Given the description of an element on the screen output the (x, y) to click on. 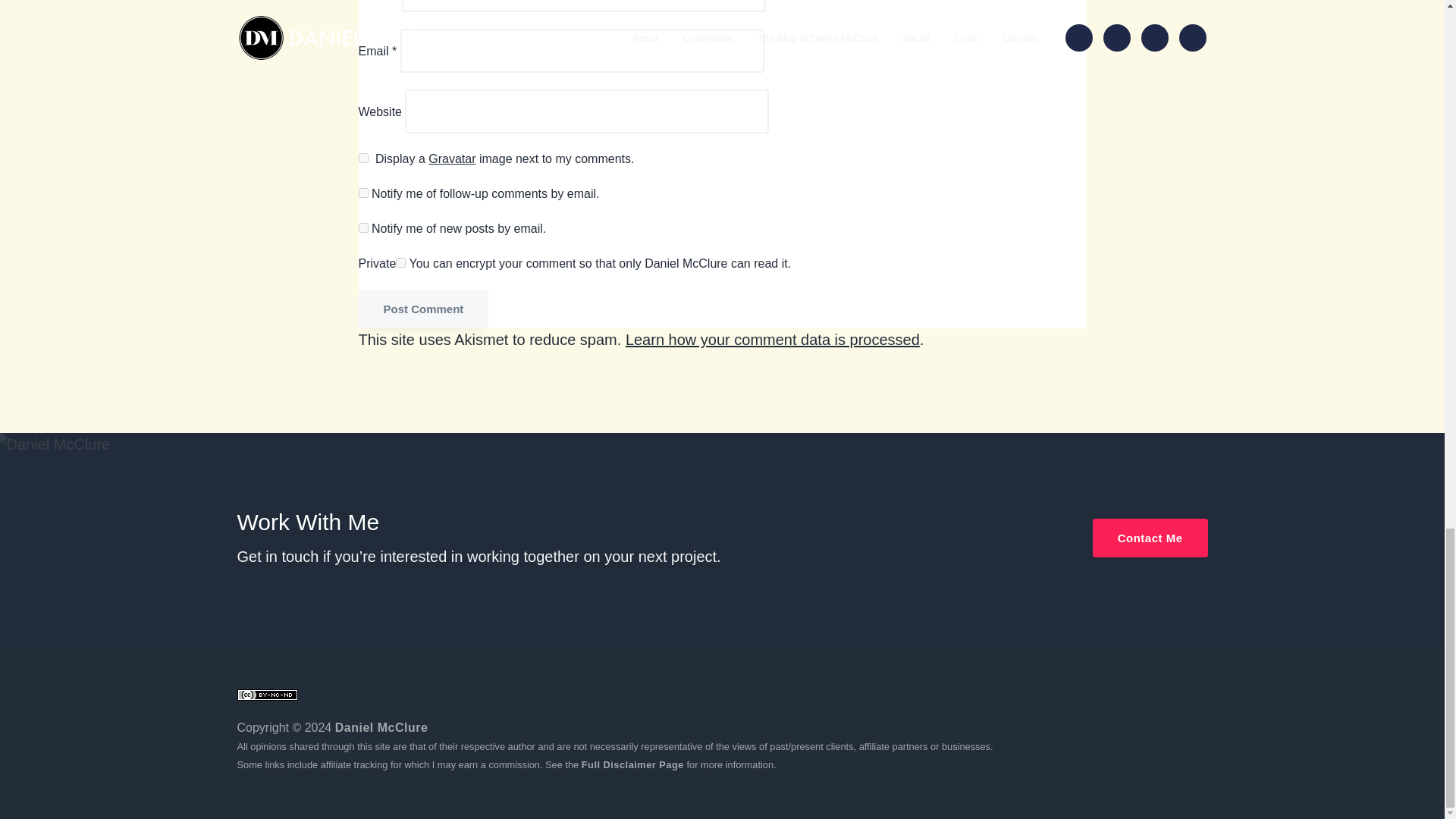
Full Disclaimer Page (632, 764)
Contact Me (1150, 537)
Learn how your comment data is processed (773, 339)
Gravatar (452, 158)
Daniel McClure (381, 727)
Post Comment (422, 308)
Post Comment (422, 308)
true (363, 157)
1 (401, 262)
subscribe (363, 193)
